Given the description of an element on the screen output the (x, y) to click on. 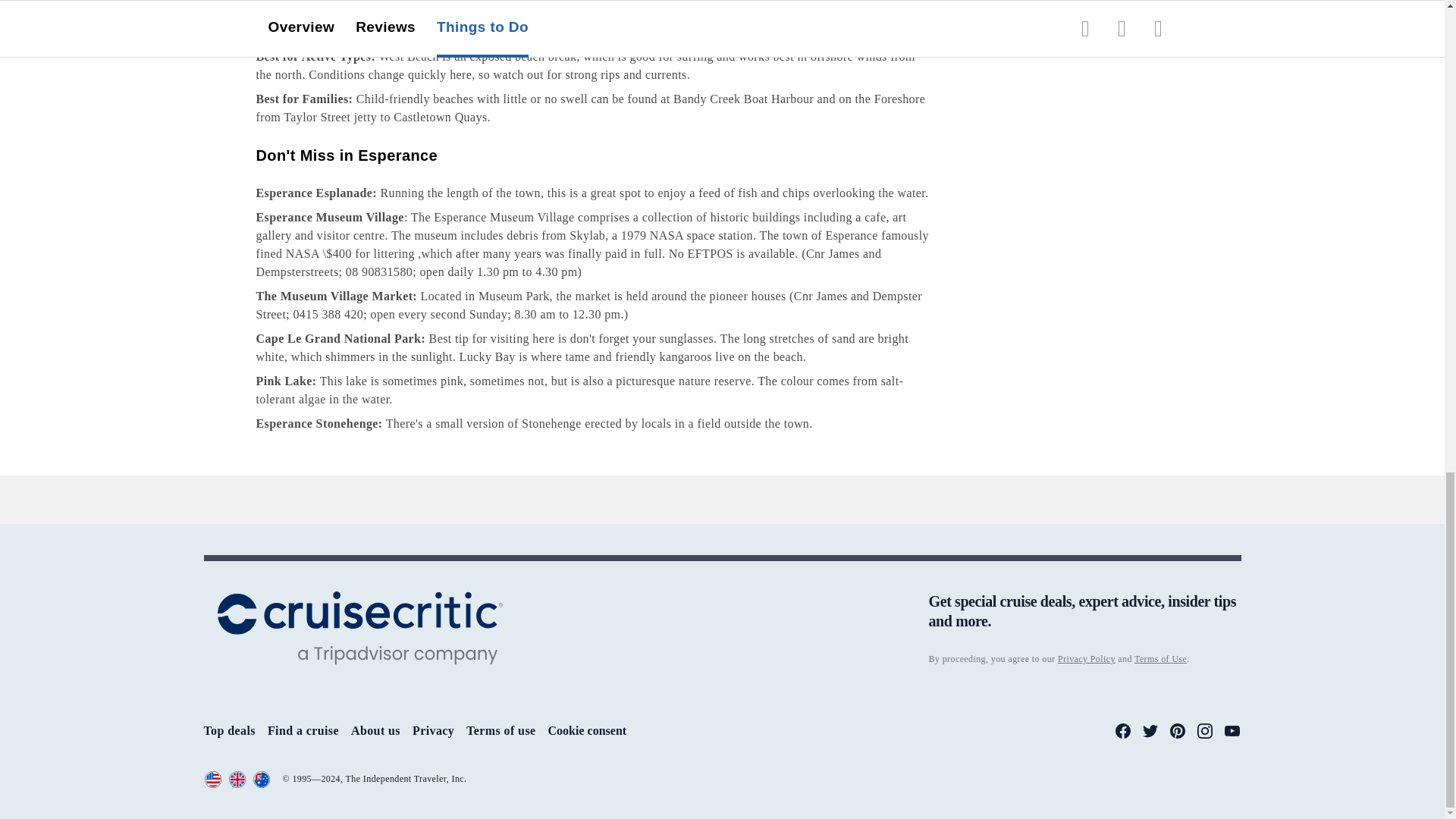
Privacy Policy (213, 780)
Terms of Use (313, 780)
Top deals (26, 798)
Find a cruise (34, 814)
